Given the description of an element on the screen output the (x, y) to click on. 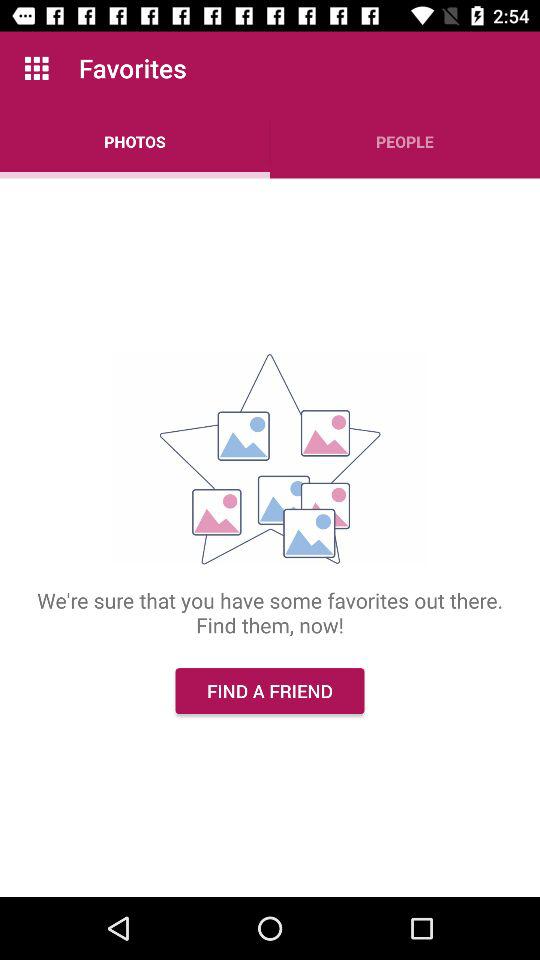
launch the people app (405, 141)
